Given the description of an element on the screen output the (x, y) to click on. 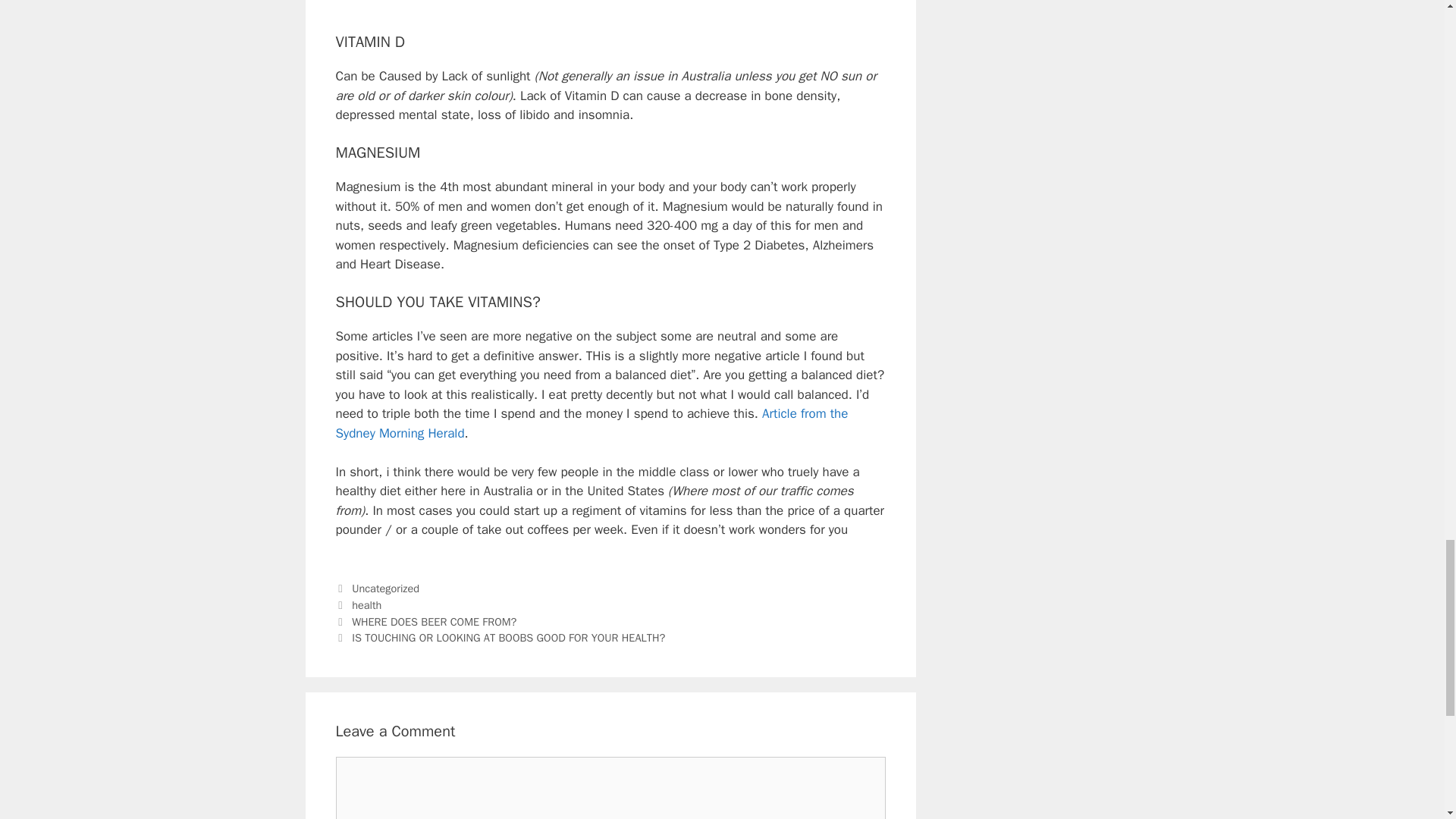
WHERE DOES BEER COME FROM? (434, 621)
Article from the Sydney Morning Herald (590, 423)
health (366, 604)
IS TOUCHING OR LOOKING AT BOOBS GOOD FOR YOUR HEALTH? (508, 637)
Next (499, 637)
Previous (425, 621)
Uncategorized (385, 588)
